Given the description of an element on the screen output the (x, y) to click on. 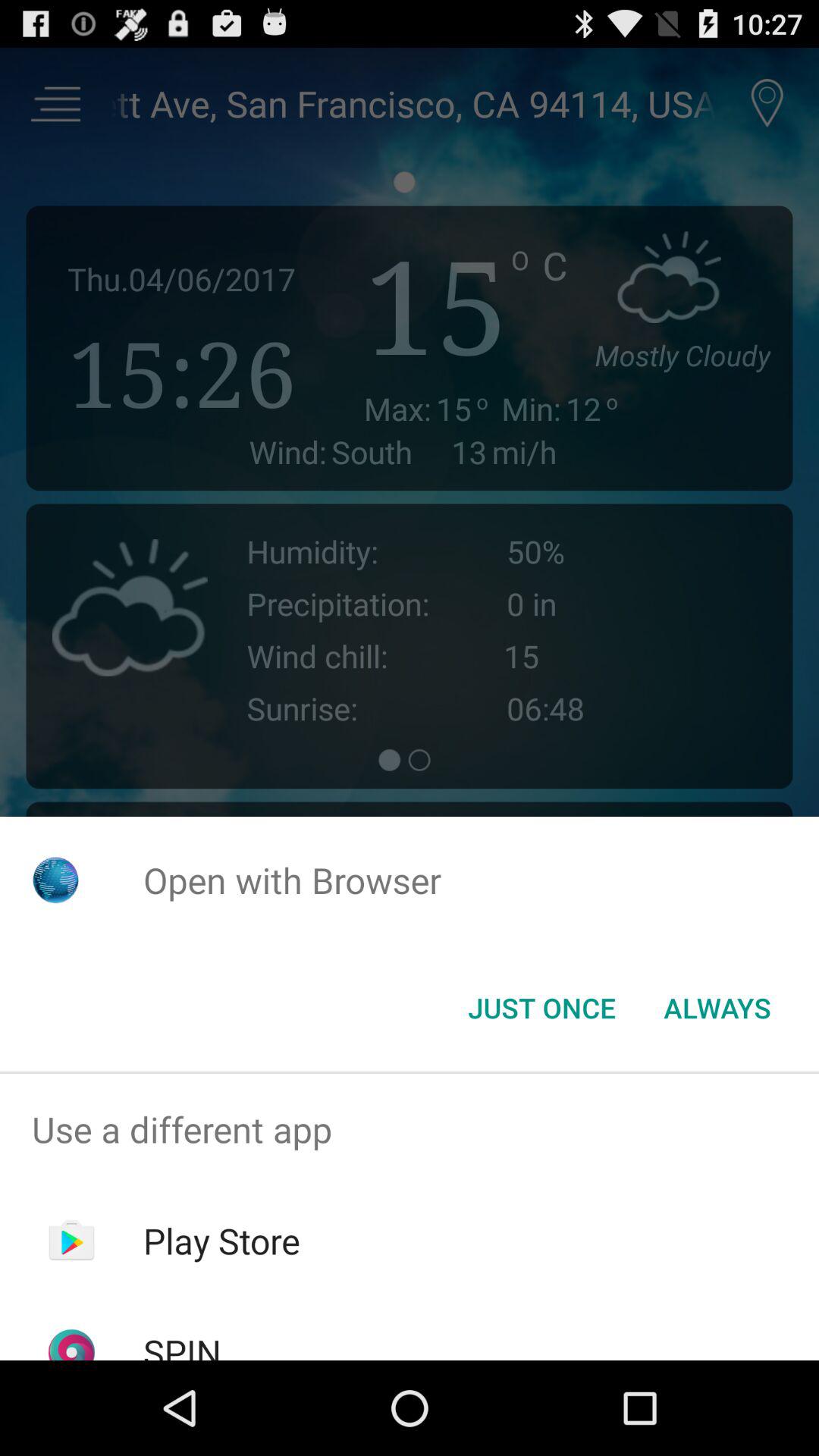
open icon to the left of always button (541, 1007)
